Given the description of an element on the screen output the (x, y) to click on. 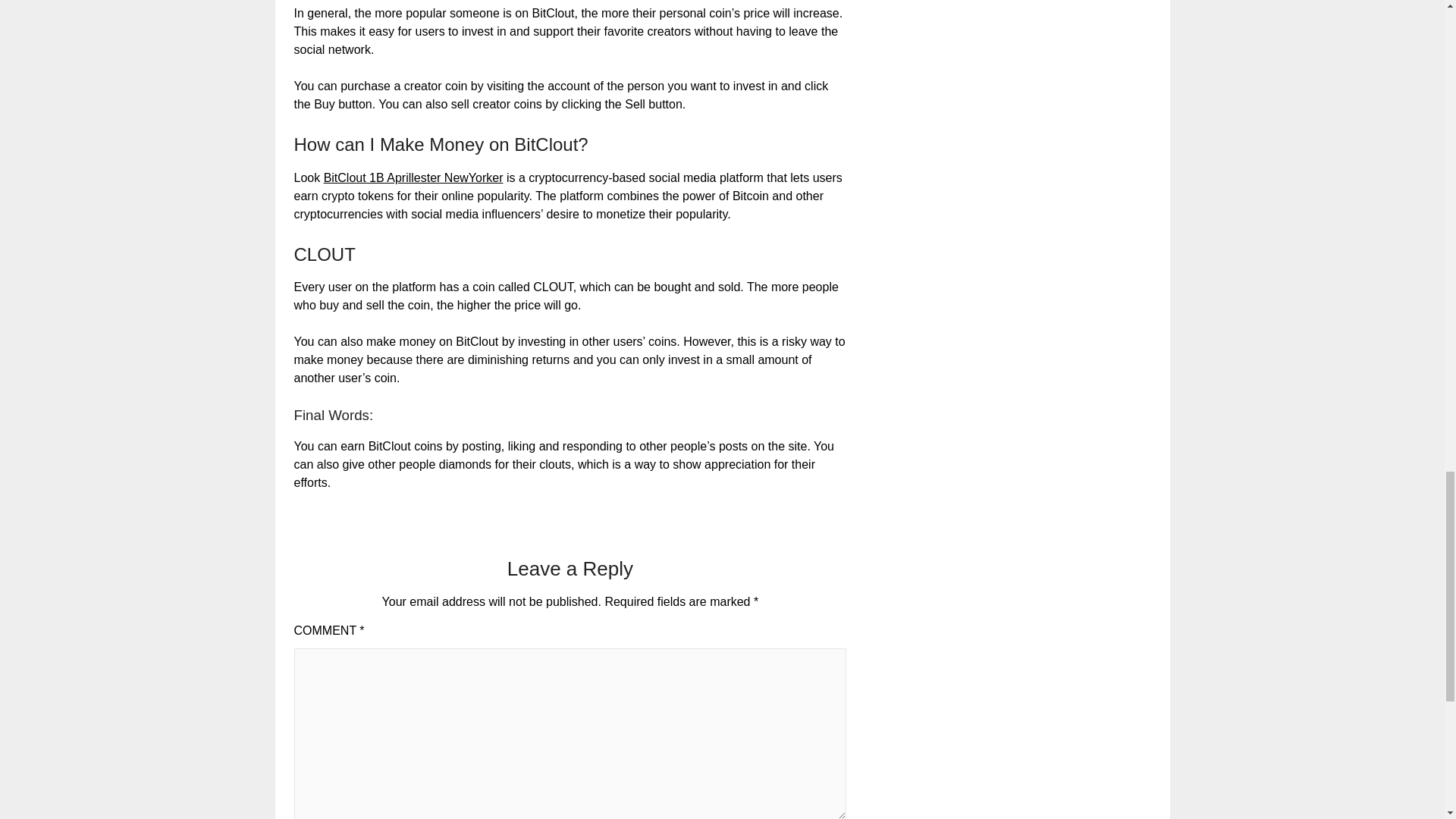
BitClout 1B Aprillester NewYorker (413, 177)
